Given the description of an element on the screen output the (x, y) to click on. 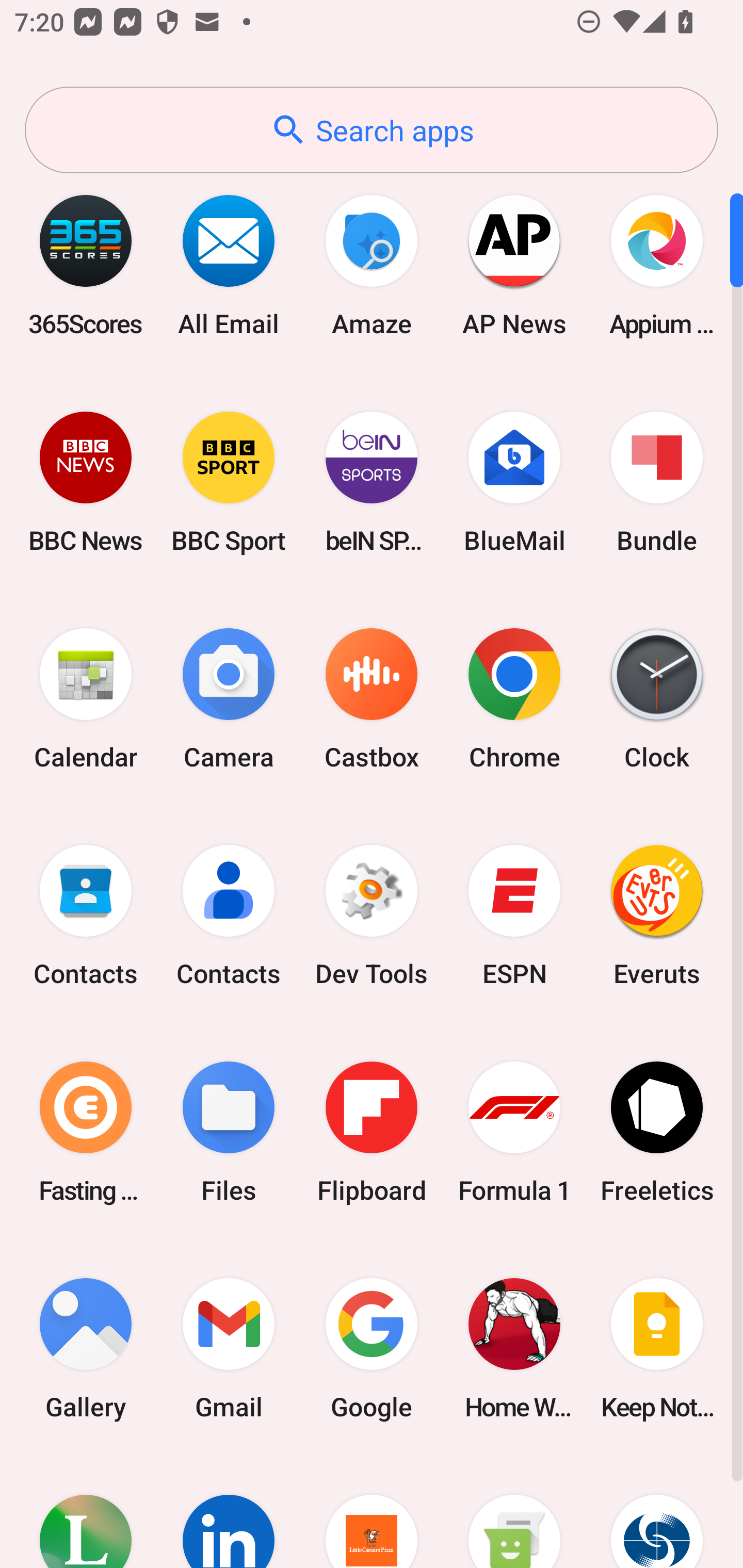
  Search apps (371, 130)
365Scores (85, 264)
All Email (228, 264)
Amaze (371, 264)
AP News (514, 264)
Appium Settings (656, 264)
BBC News (85, 482)
BBC Sport (228, 482)
beIN SPORTS (371, 482)
BlueMail (514, 482)
Bundle (656, 482)
Calendar (85, 699)
Camera (228, 699)
Castbox (371, 699)
Chrome (514, 699)
Clock (656, 699)
Contacts (85, 915)
Contacts (228, 915)
Dev Tools (371, 915)
ESPN (514, 915)
Everuts (656, 915)
Fasting Coach (85, 1131)
Files (228, 1131)
Flipboard (371, 1131)
Formula 1 (514, 1131)
Freeletics (656, 1131)
Gallery (85, 1348)
Gmail (228, 1348)
Google (371, 1348)
Home Workout (514, 1348)
Keep Notes (656, 1348)
